Given the description of an element on the screen output the (x, y) to click on. 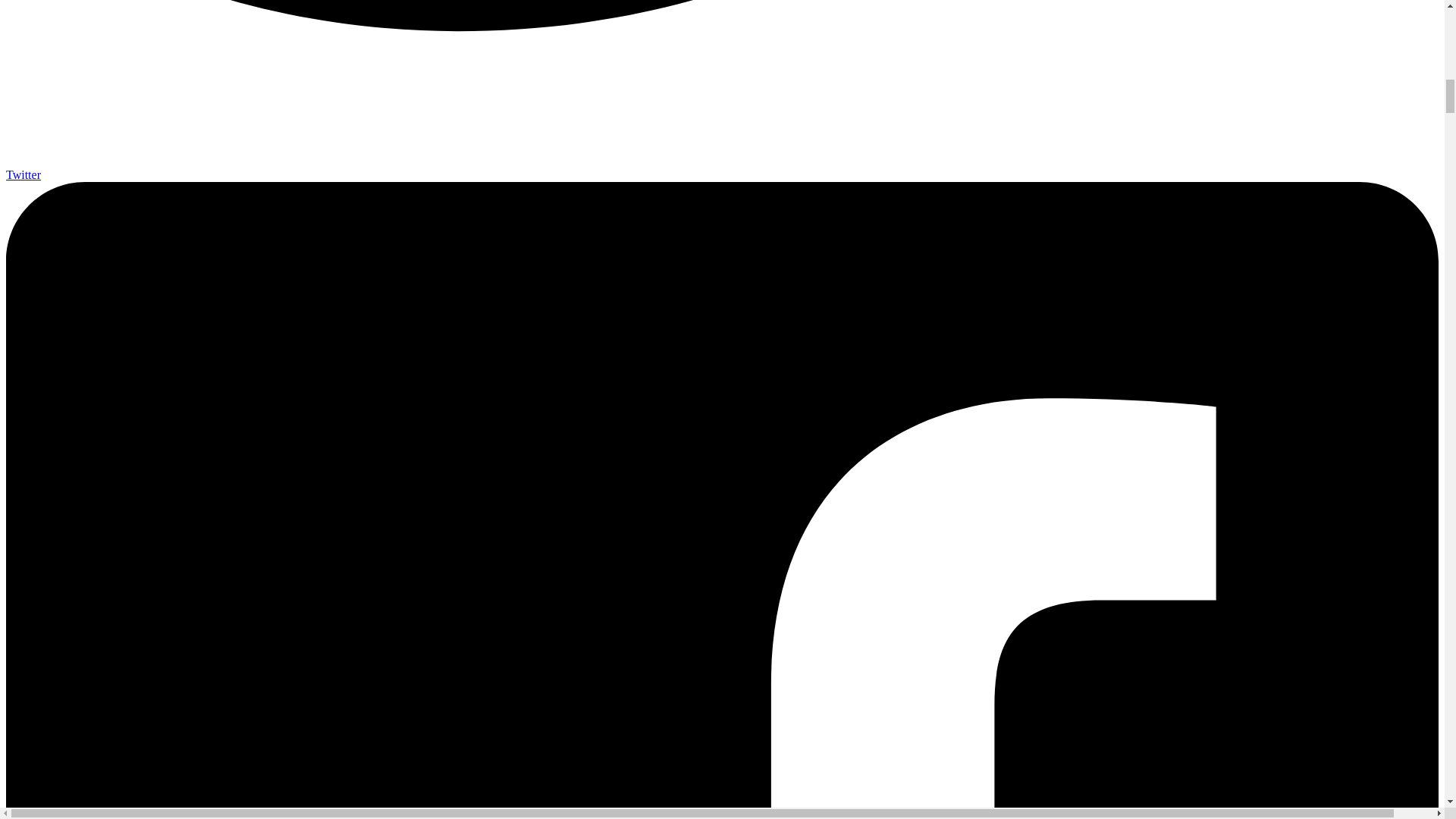
Twitter icon Twitter (721, 167)
